Given the description of an element on the screen output the (x, y) to click on. 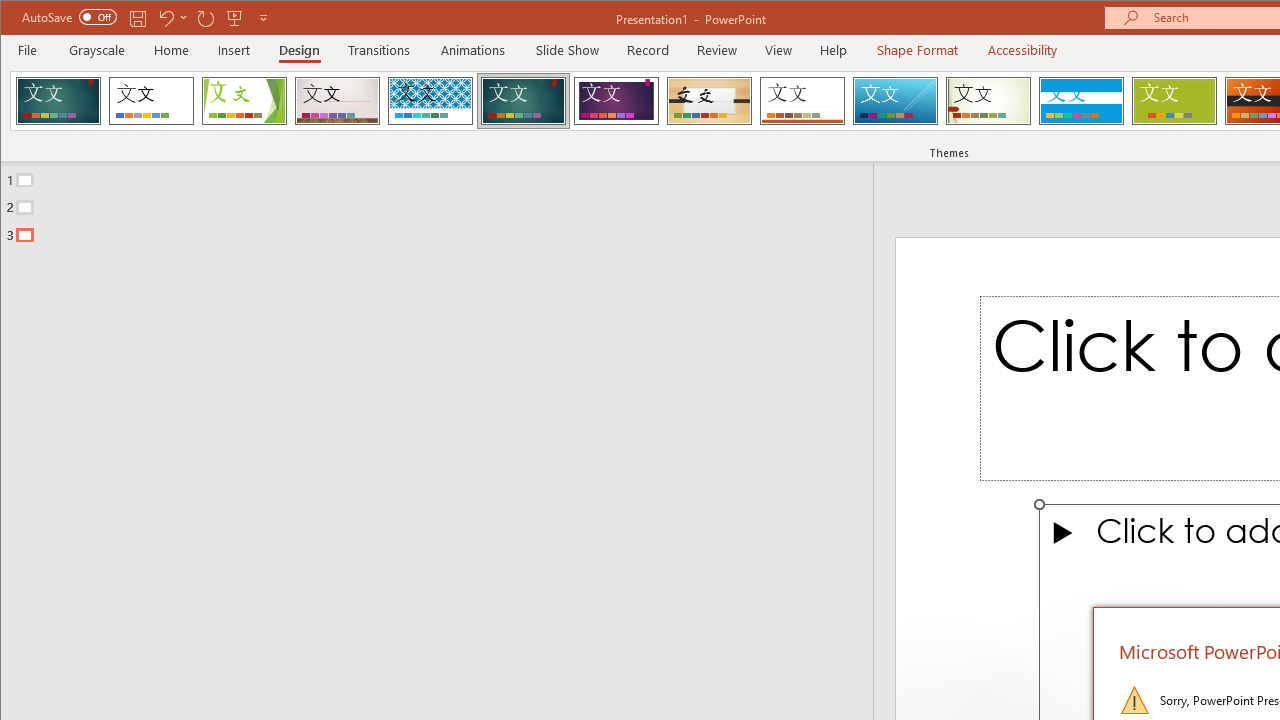
Organic (709, 100)
Slice (895, 100)
Integral (430, 100)
